Given the description of an element on the screen output the (x, y) to click on. 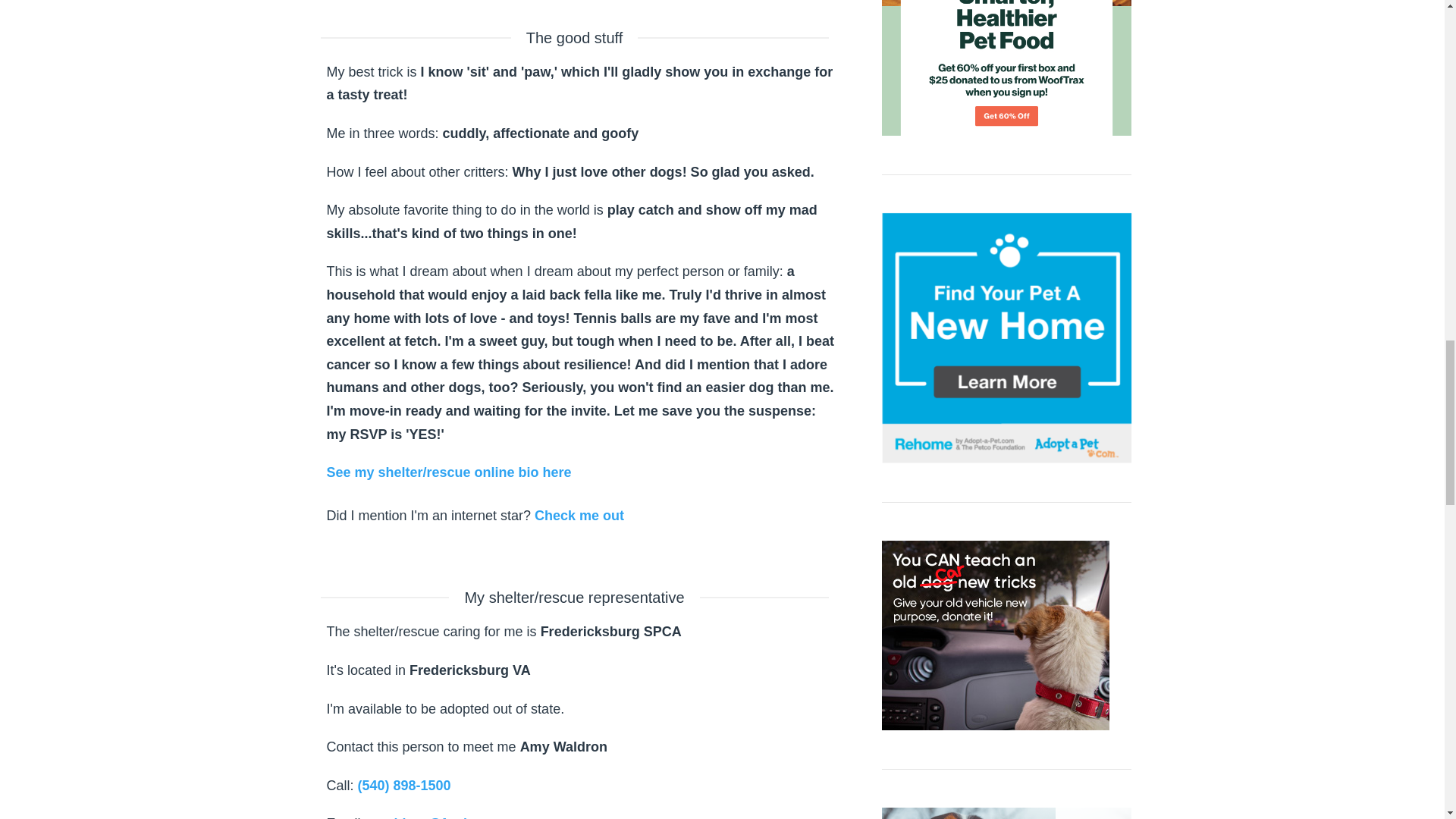
RehomeBadge400x400 (1005, 337)
PetMeds Logo 300x250 (1093, 813)
